Given the description of an element on the screen output the (x, y) to click on. 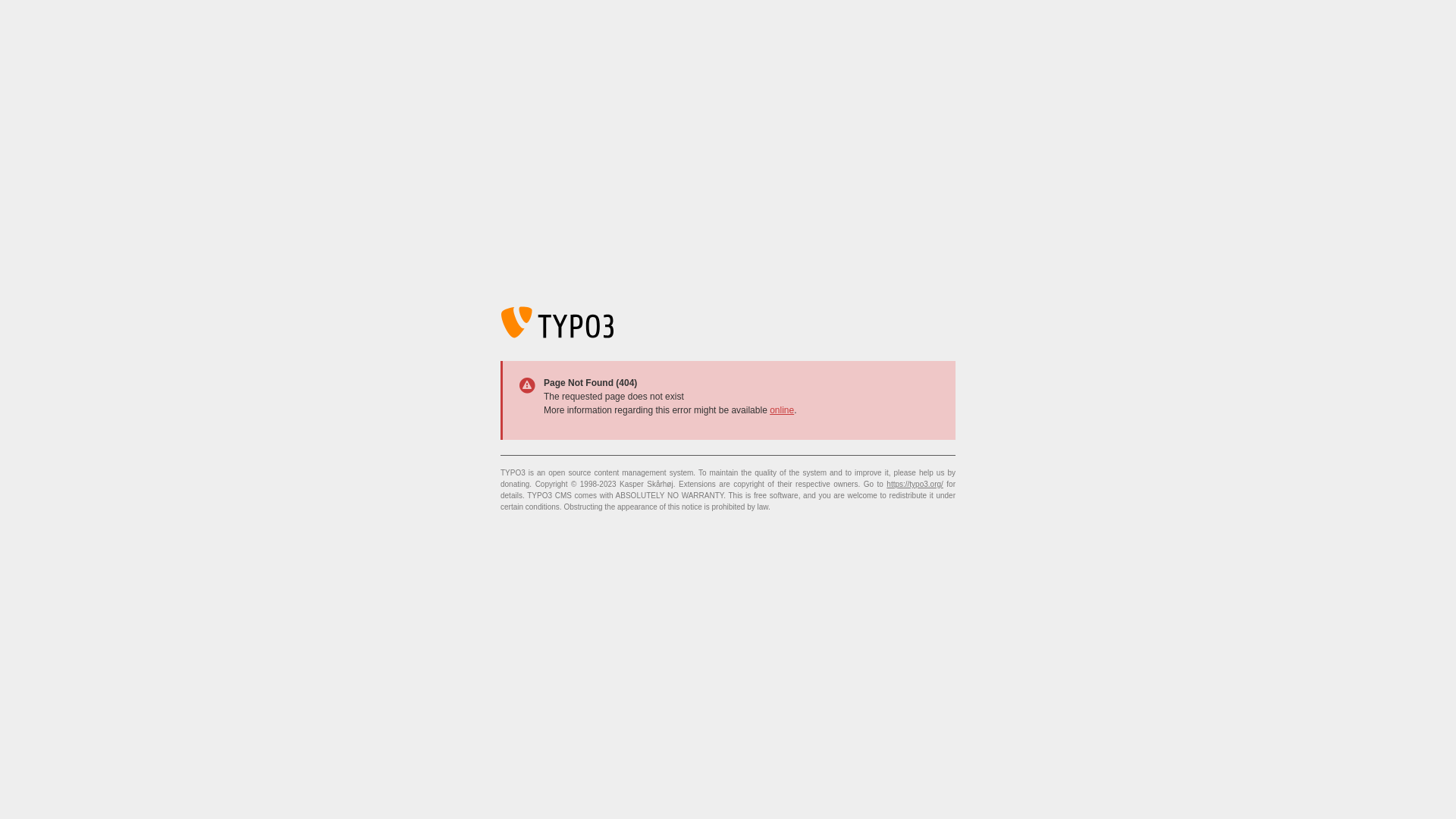
online Element type: text (781, 409)
https://typo3.org/ Element type: text (914, 484)
